Given the description of an element on the screen output the (x, y) to click on. 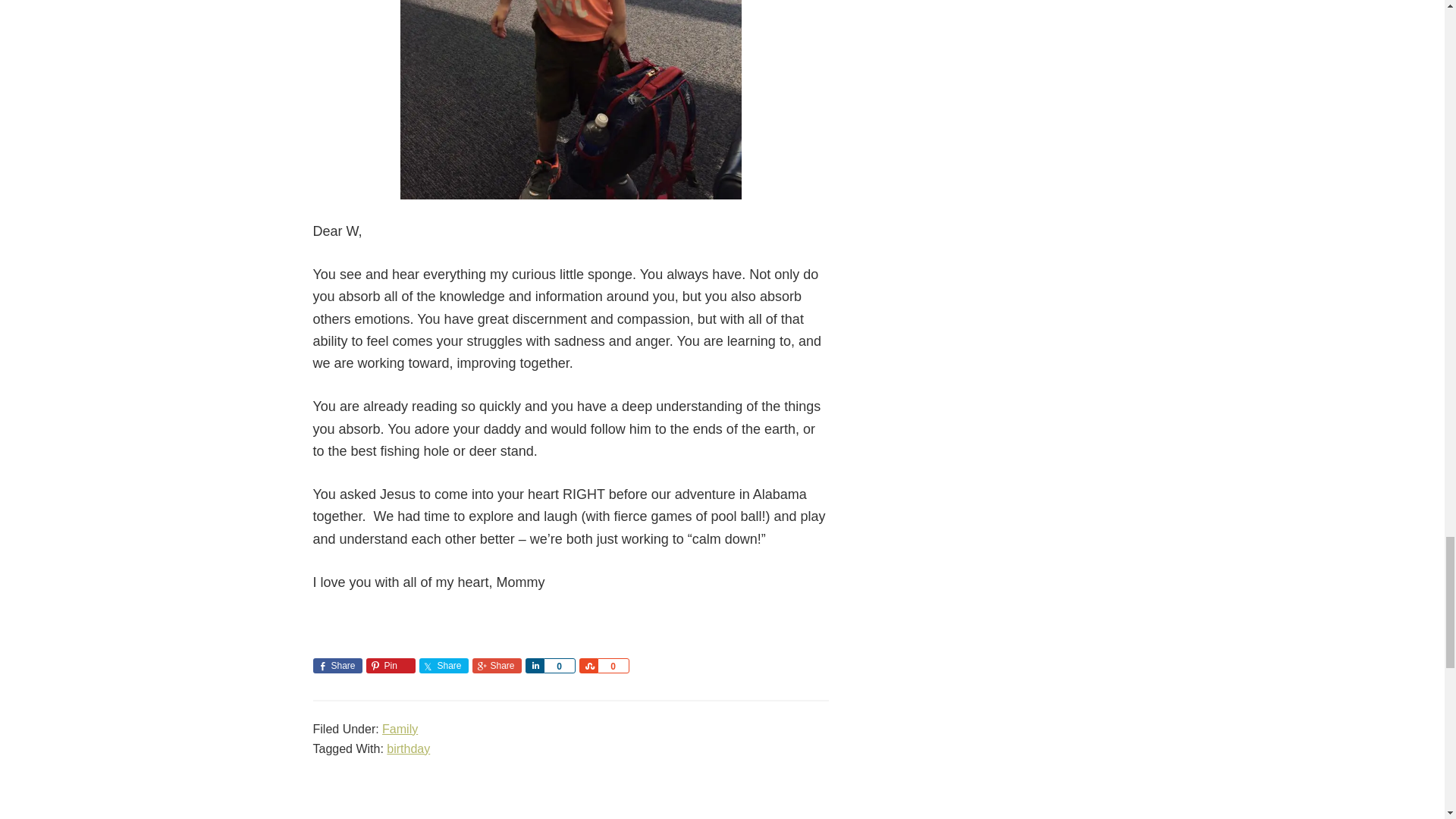
Pin (389, 665)
birthday (408, 748)
Share (496, 665)
Share (533, 665)
Share (587, 665)
Family (399, 728)
0 (612, 665)
Share (443, 665)
Share (337, 665)
0 (559, 665)
